Given the description of an element on the screen output the (x, y) to click on. 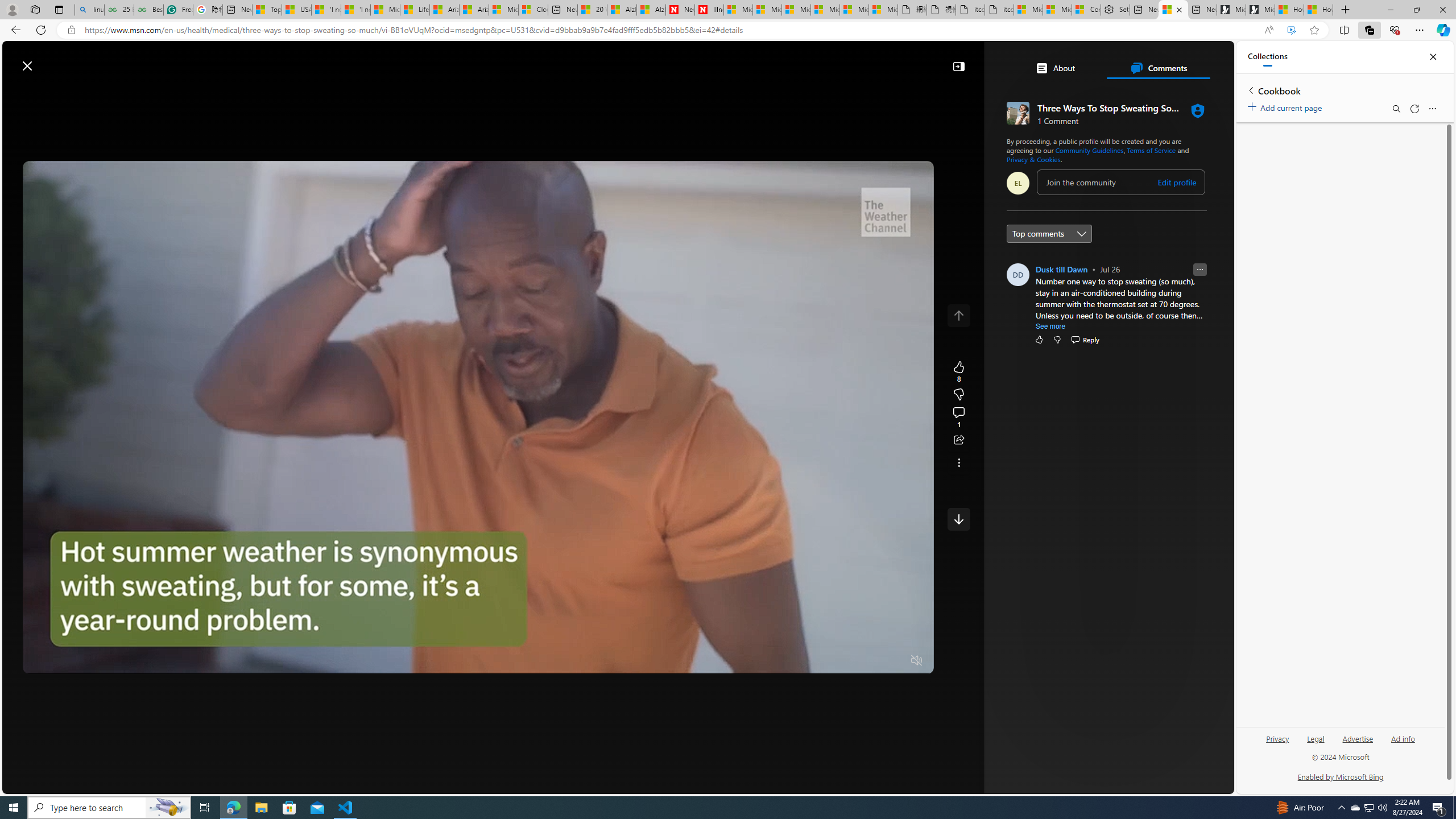
Enter your search term (619, 59)
Best SSL Certificates Provider in India - GeeksforGeeks (148, 9)
Legal (1315, 742)
Address and search bar (669, 29)
Advertise (1357, 738)
Seek Back (62, 660)
Notifications (1186, 60)
